Given the description of an element on the screen output the (x, y) to click on. 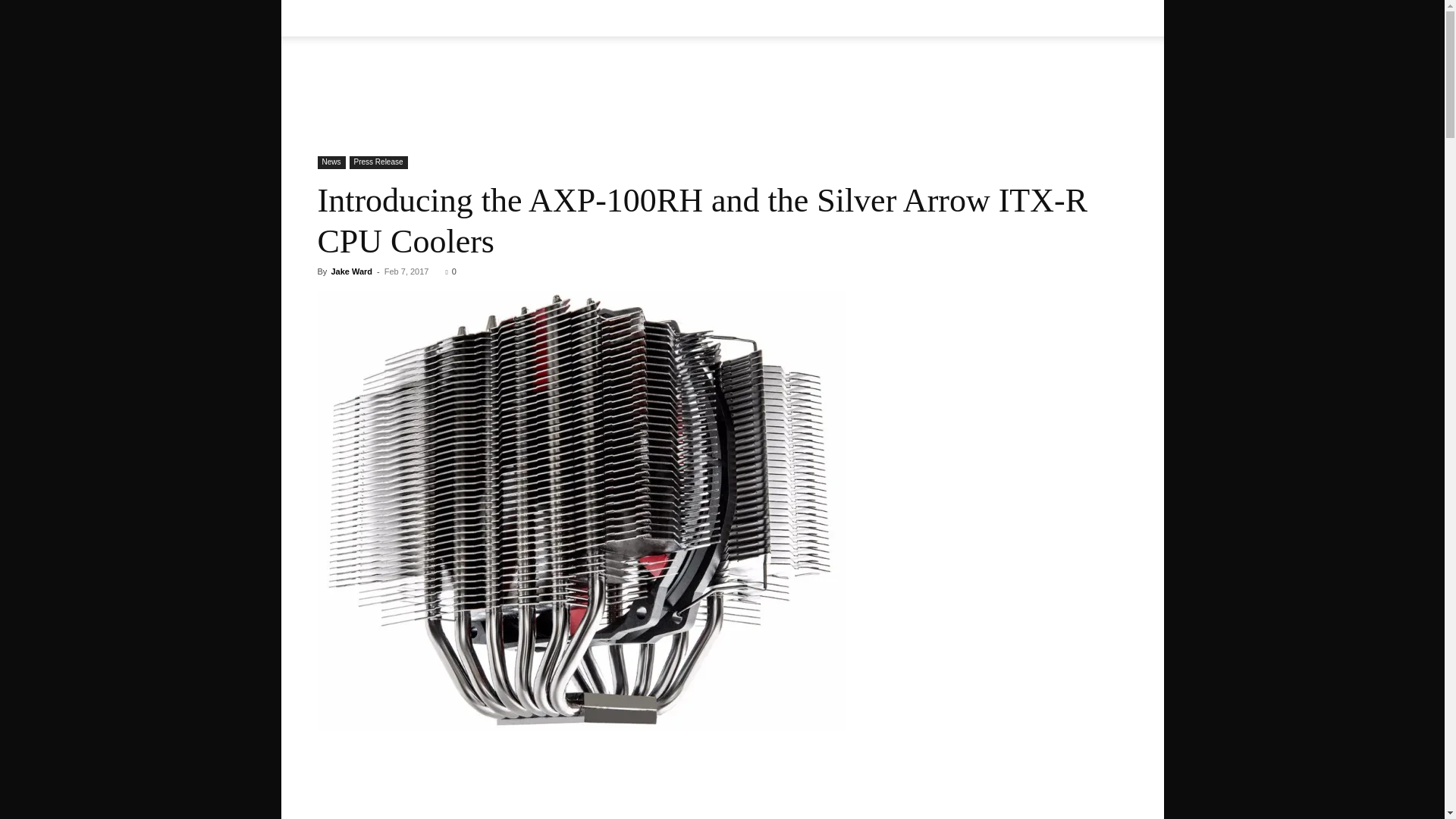
NEWS (455, 18)
REVIEWS (523, 18)
HOME (343, 18)
ABOUT (399, 18)
